Given the description of an element on the screen output the (x, y) to click on. 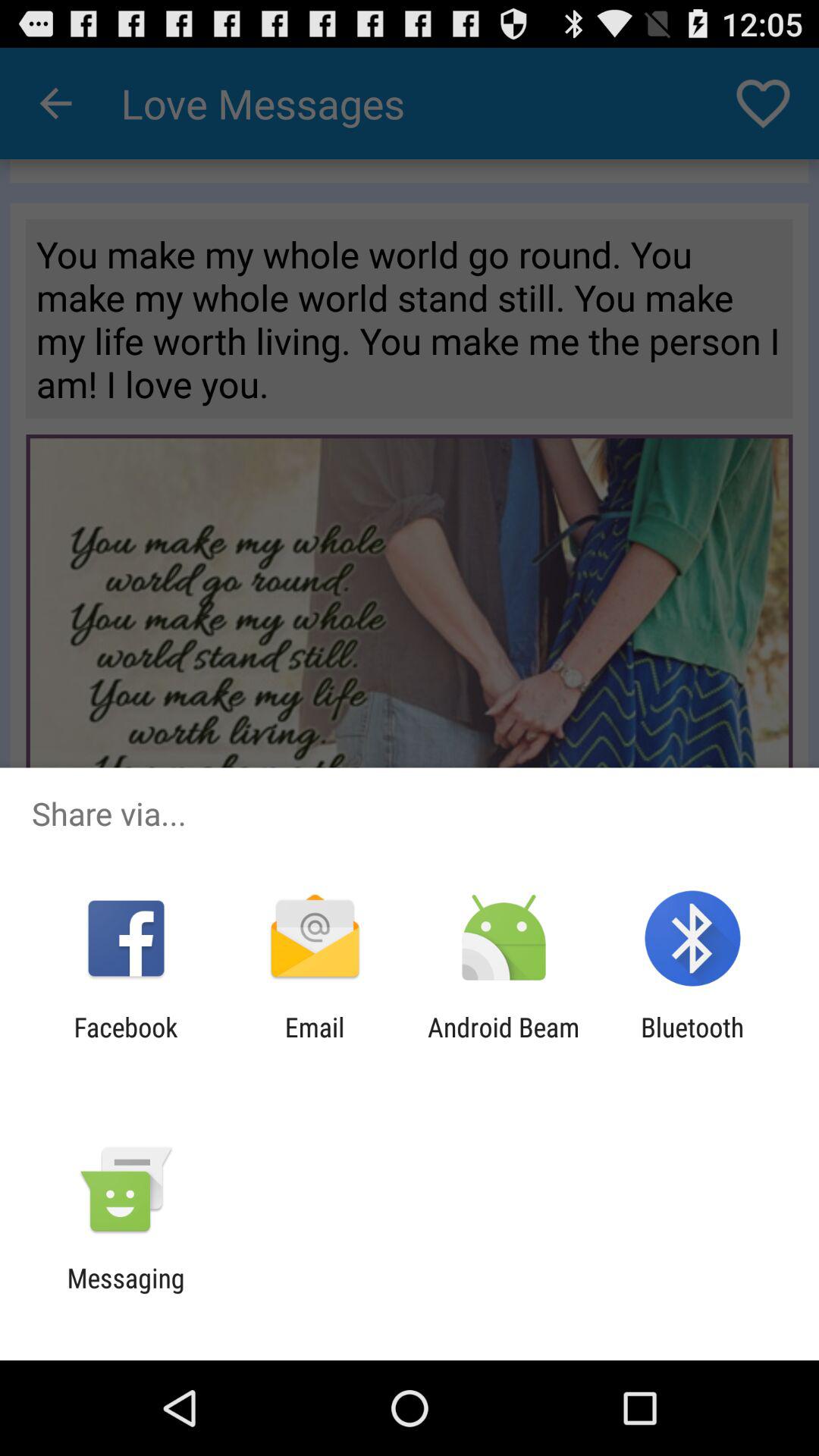
turn off icon to the right of email app (503, 1042)
